Given the description of an element on the screen output the (x, y) to click on. 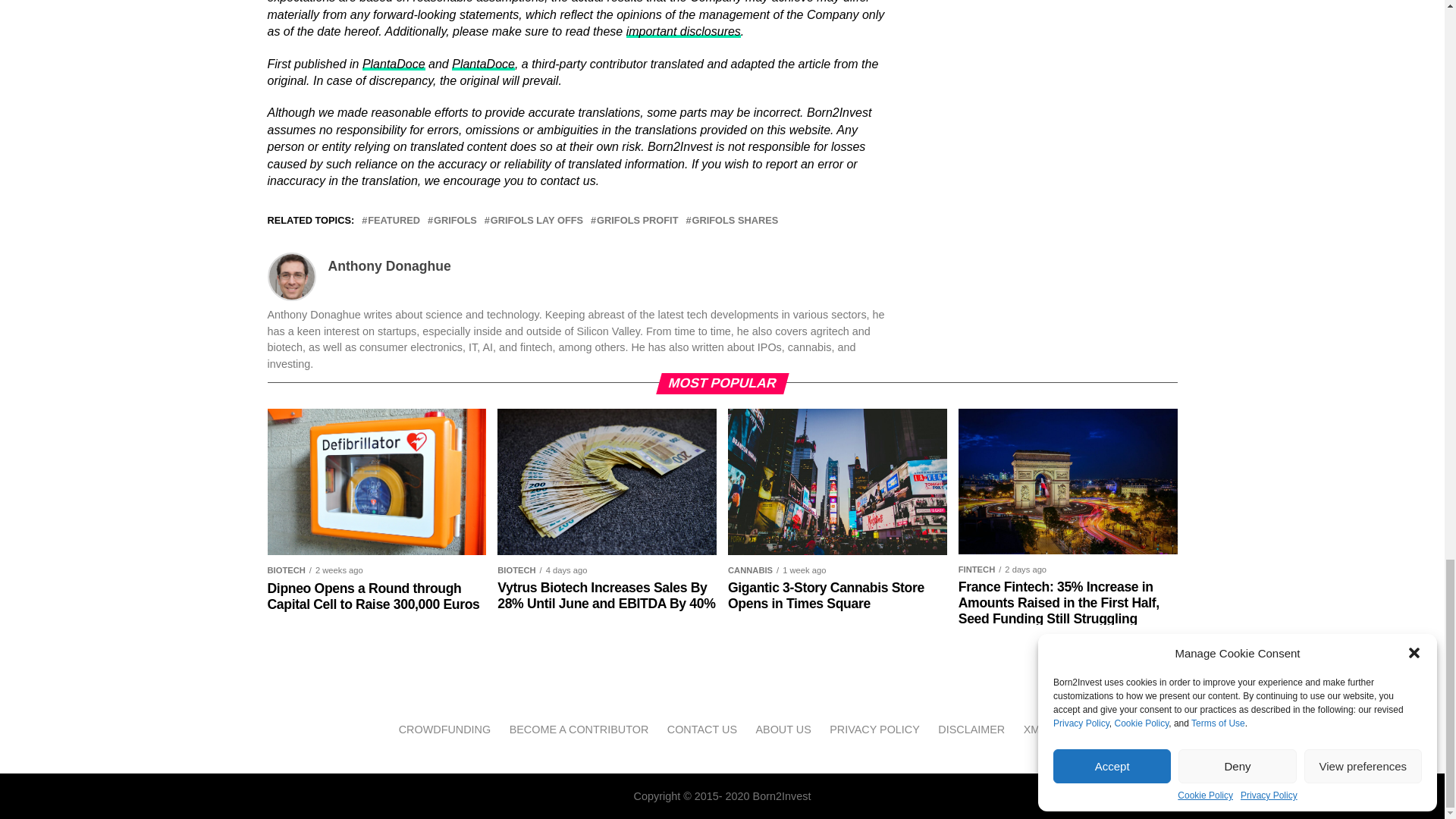
Posts by Anthony Donaghue (388, 265)
